Given the description of an element on the screen output the (x, y) to click on. 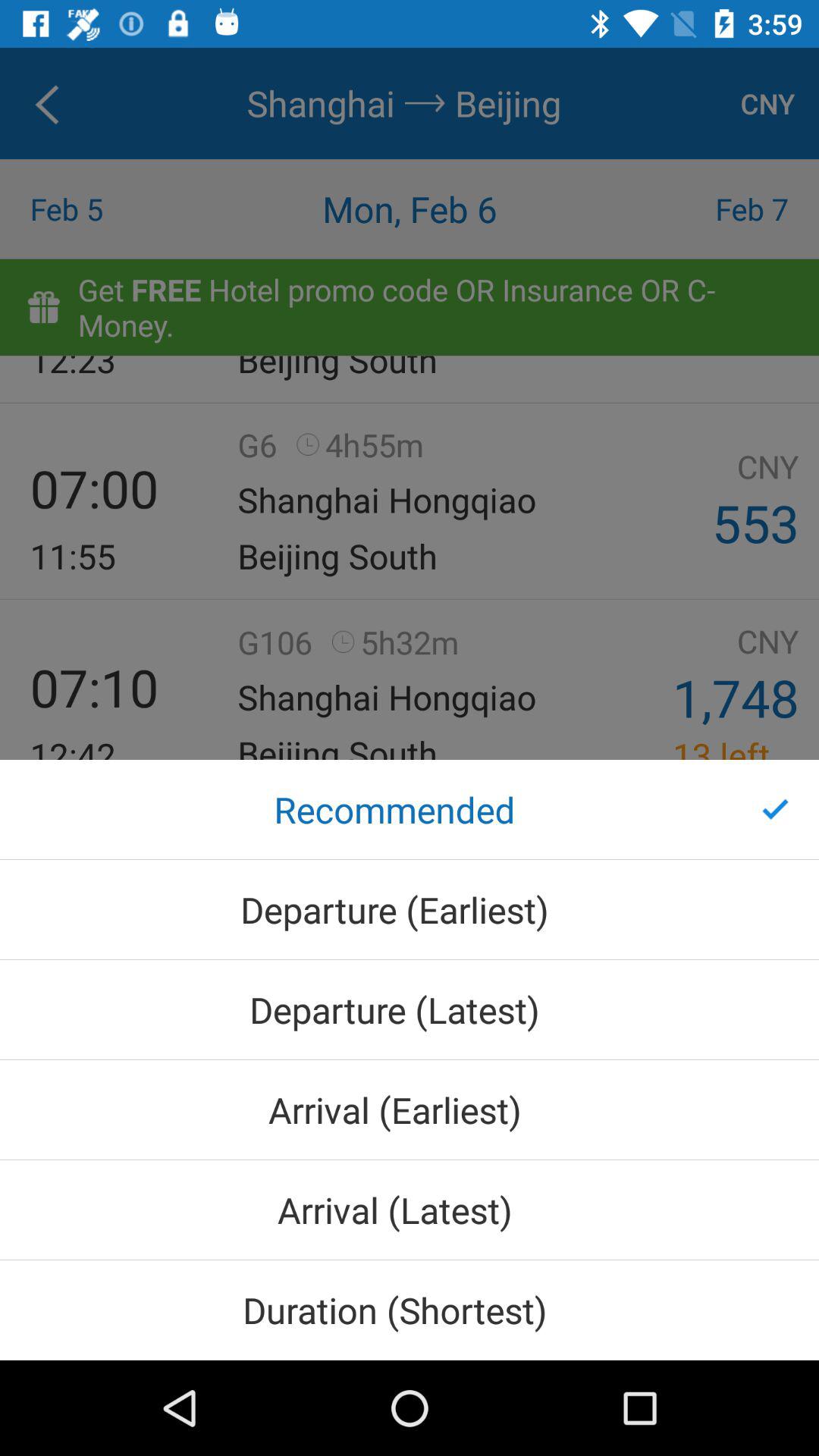
swipe until the recommended (409, 809)
